Given the description of an element on the screen output the (x, y) to click on. 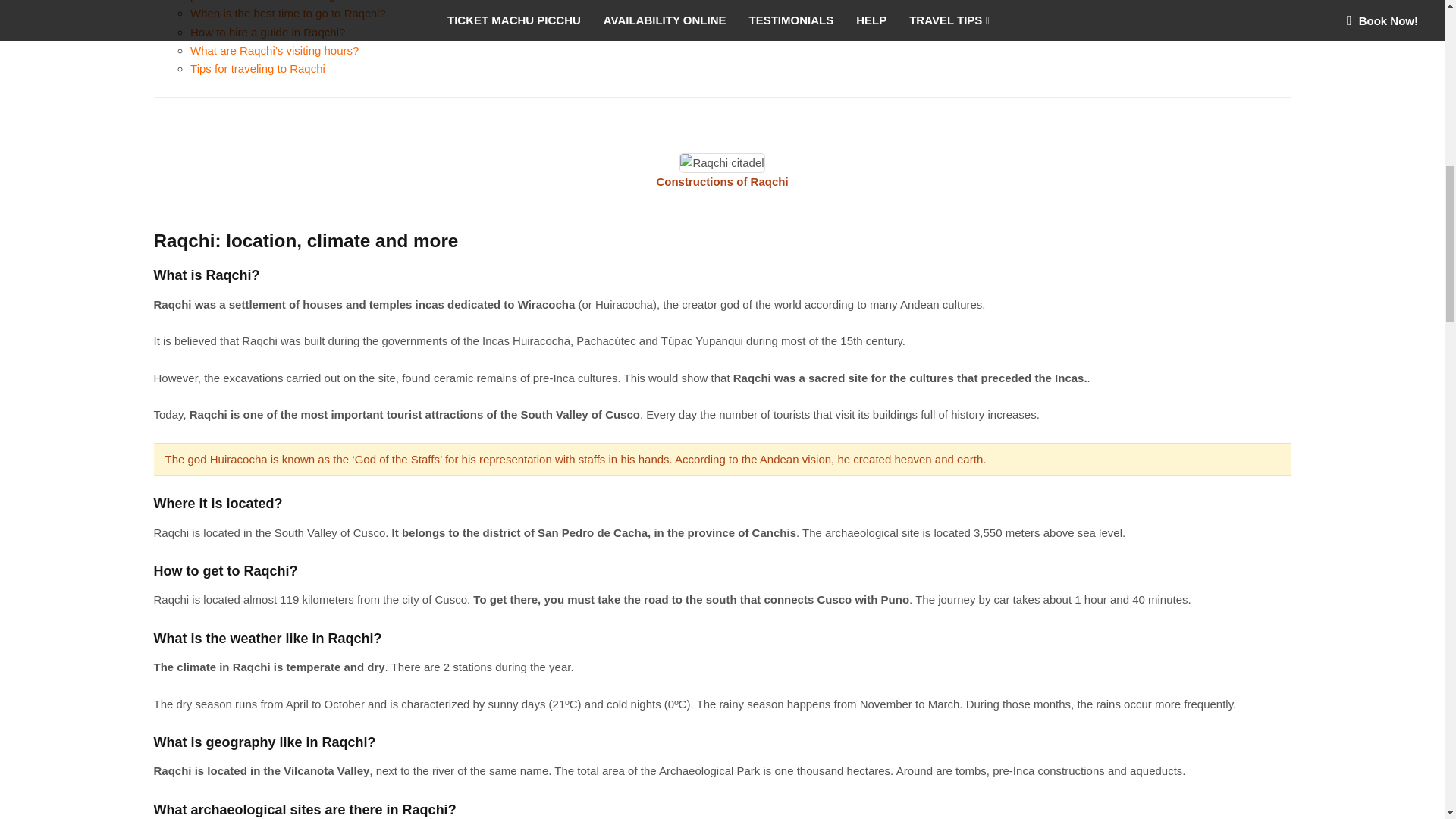
Raqchi (721, 162)
